Given the description of an element on the screen output the (x, y) to click on. 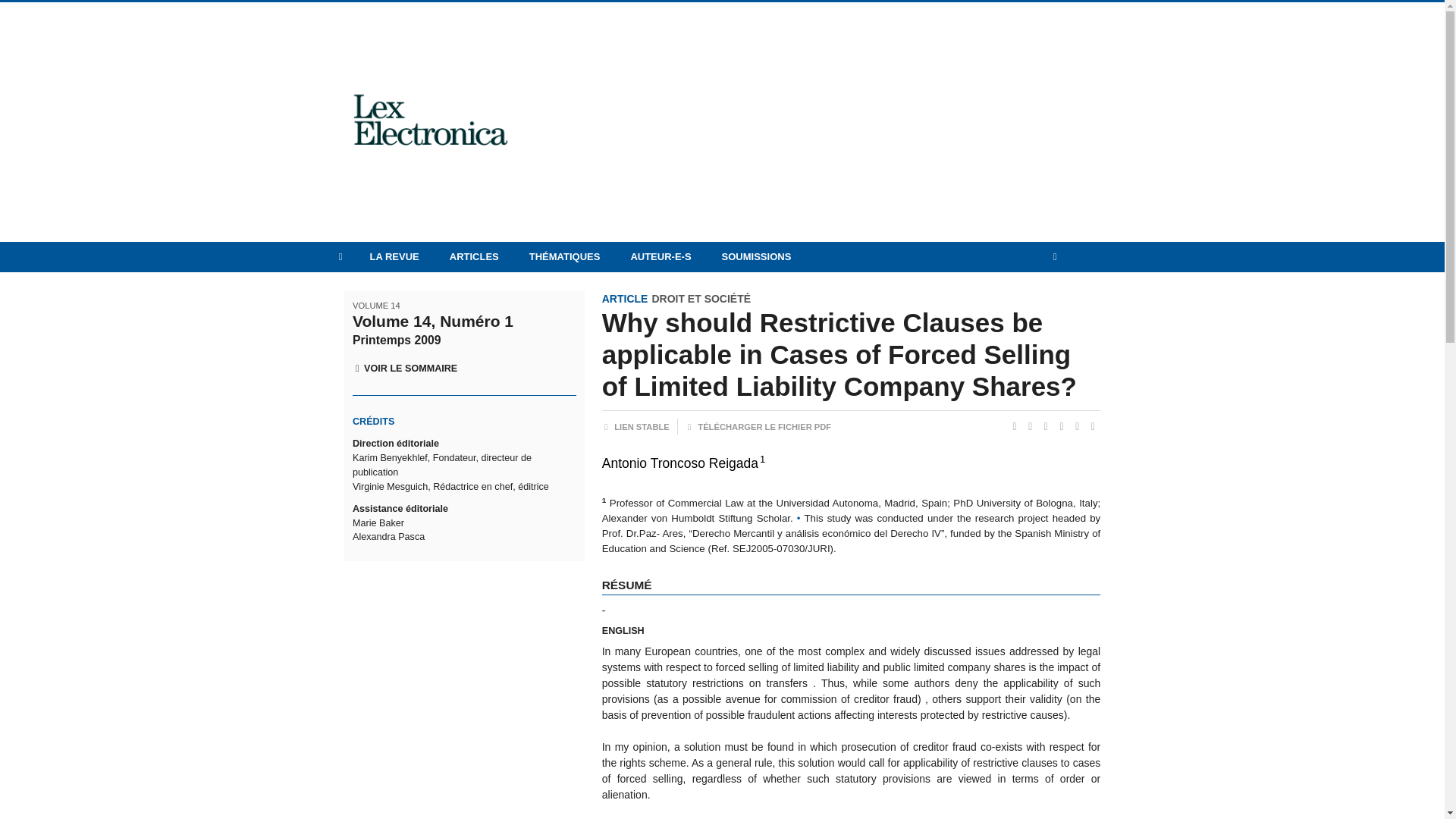
Lex Electronica (429, 119)
LA REVUE (394, 256)
Titre (851, 354)
Partager sur Facebook (1031, 426)
Sauver via Pocket (1093, 426)
Voir le sommaire (404, 368)
EN (1078, 289)
Sauver via Evernote (1077, 426)
AUTEUR-E-S (660, 256)
Lex Electronica (438, 122)
Partager sur LinkedIn (1046, 426)
Partager sur Twitter (1015, 426)
SOUMISSIONS (756, 256)
Partager sur Google Plus (1062, 426)
ARTICLES (473, 256)
